Given the description of an element on the screen output the (x, y) to click on. 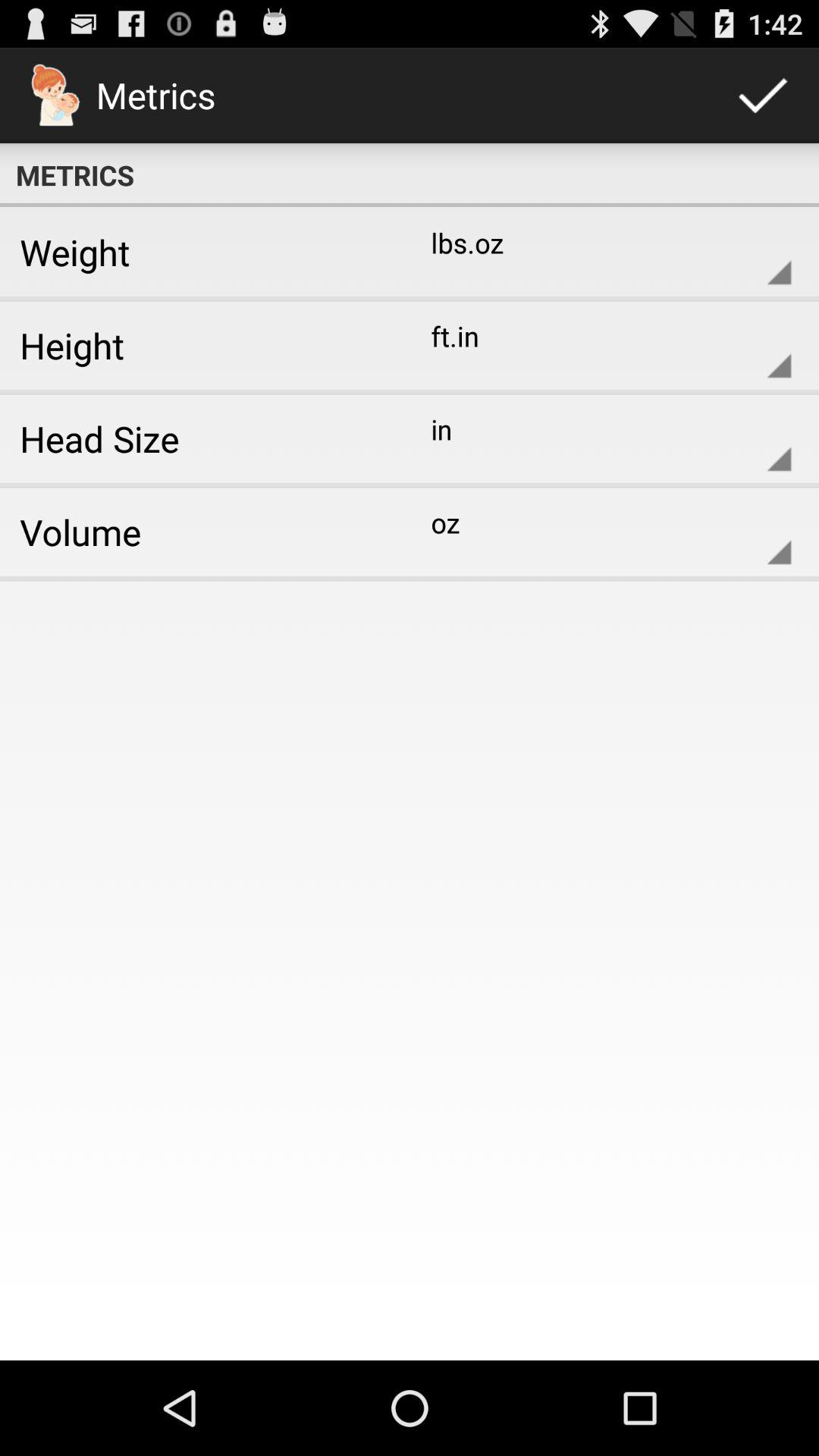
swipe to ft.in item (599, 345)
